Given the description of an element on the screen output the (x, y) to click on. 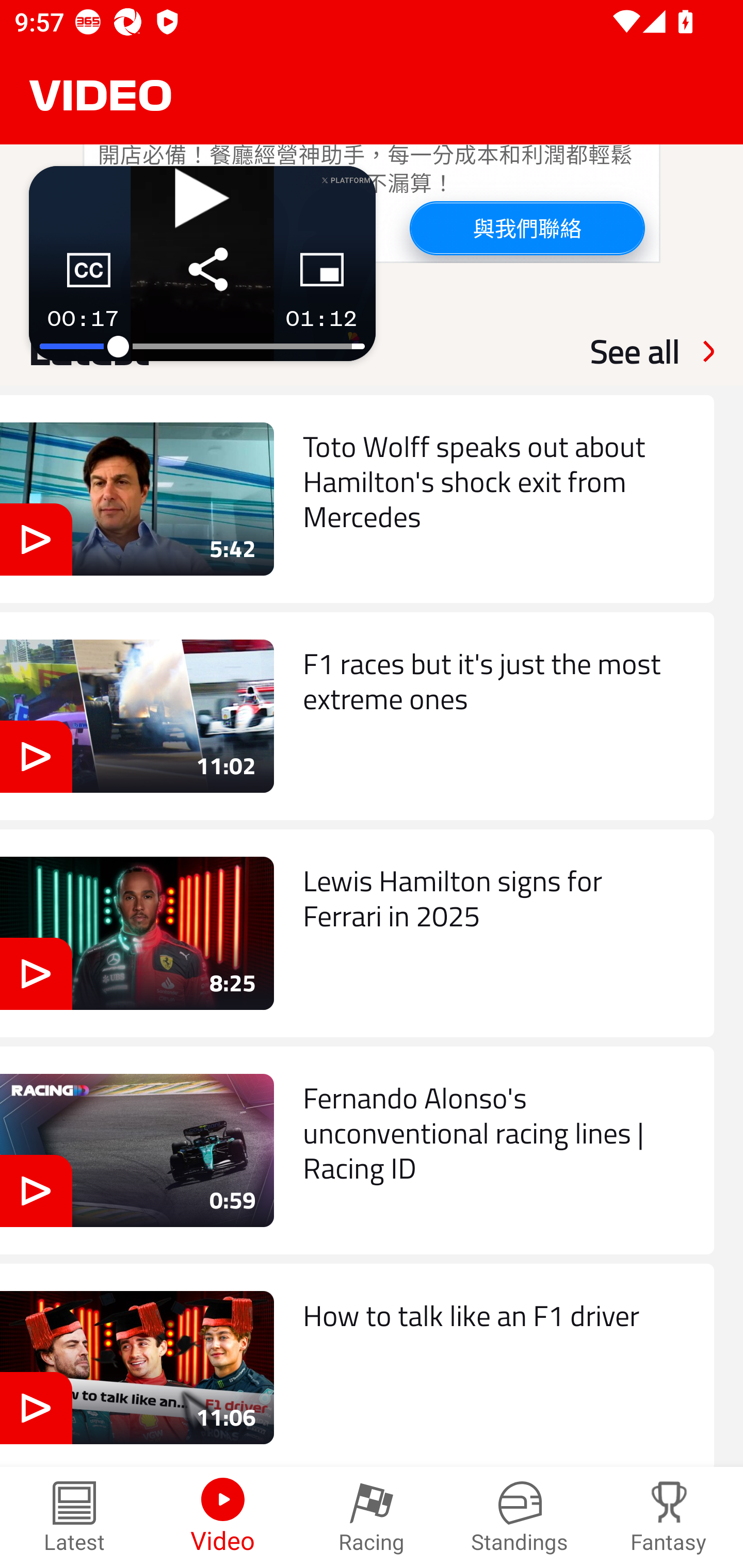
與我們聯絡 (526, 227)
See all (634, 351)
8:25 Lewis Hamilton signs for Ferrari in 2025 (357, 933)
11:06 How to talk like an F1 driver (357, 1365)
Latest (74, 1517)
Racing (371, 1517)
Standings (519, 1517)
Fantasy (668, 1517)
